Given the description of an element on the screen output the (x, y) to click on. 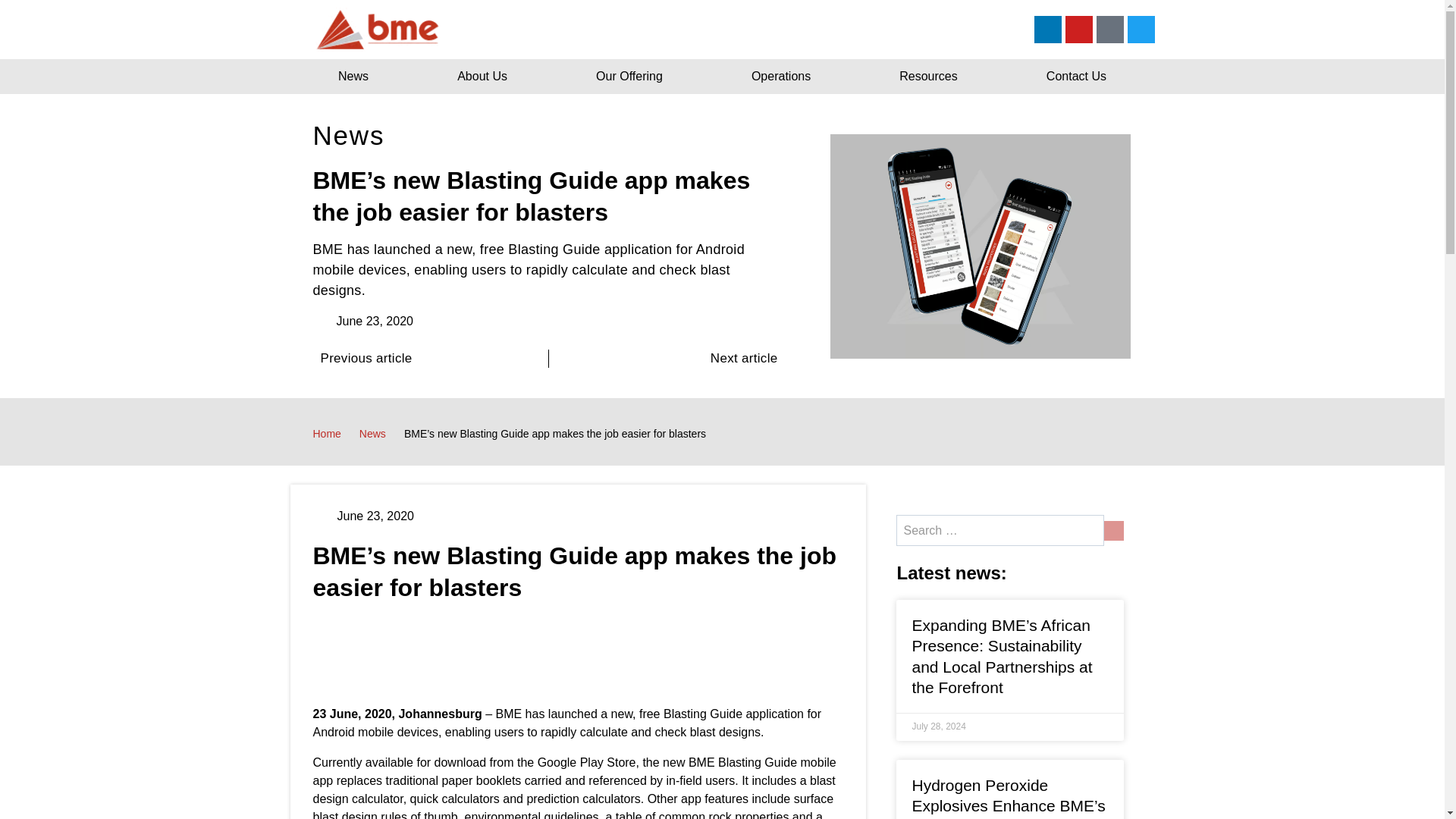
embedded content 1 (578, 653)
News (353, 76)
Resources (929, 76)
Home (326, 434)
Operations (780, 76)
About Us (482, 76)
News (372, 434)
Our Offering (629, 76)
